Given the description of an element on the screen output the (x, y) to click on. 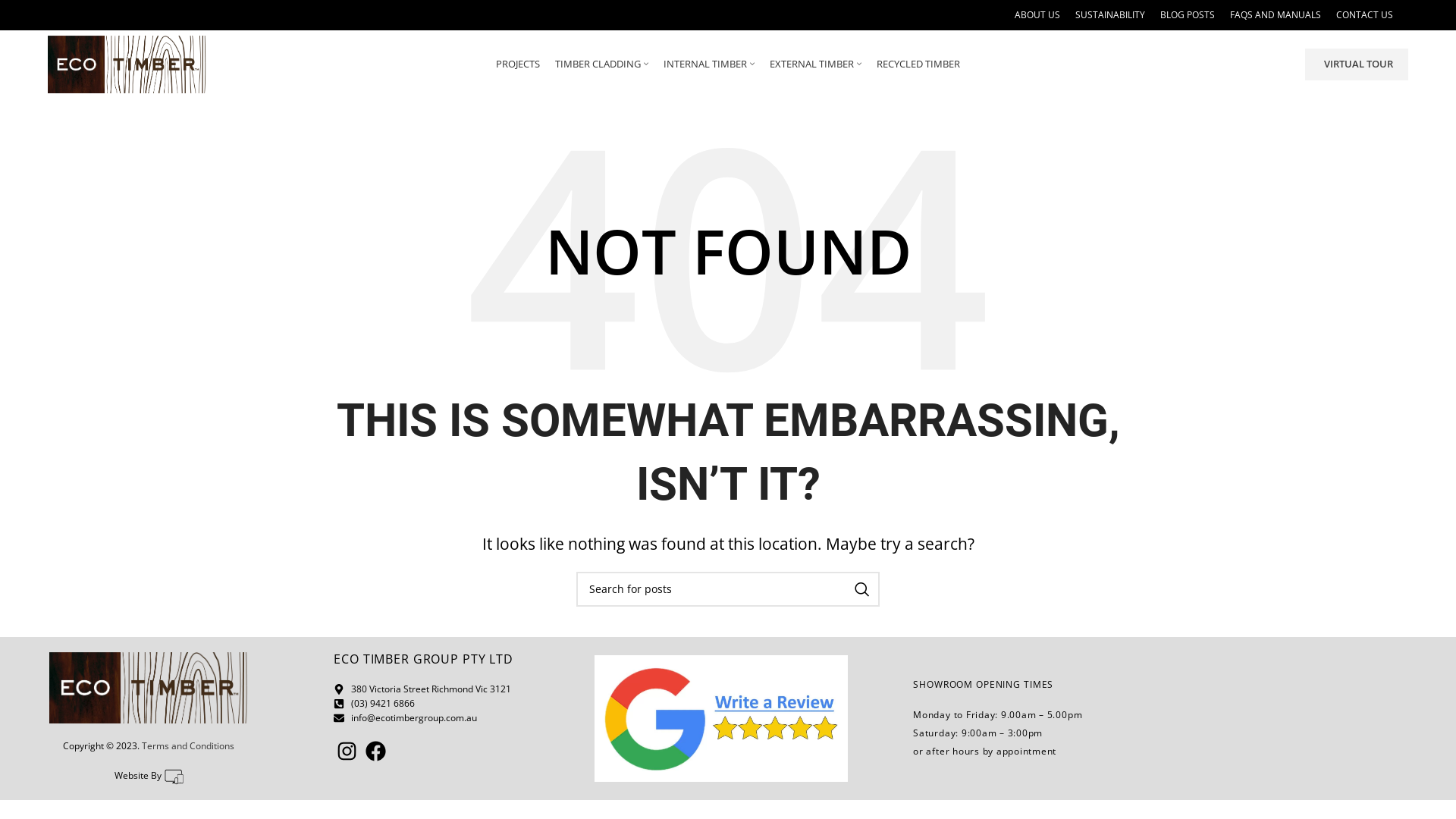
ABOUT US Element type: text (1037, 15)
PROJECTS Element type: text (517, 64)
VIRTUAL TOUR Element type: text (1356, 64)
EXTERNAL TIMBER Element type: text (815, 64)
BLOG POSTS Element type: text (1187, 15)
CONTACT US Element type: text (1364, 15)
TIMBER CLADDING Element type: text (601, 64)
FAQS AND MANUALS Element type: text (1275, 15)
SEARCH Element type: text (861, 588)
info@ecotimbergroup.com.au Element type: text (452, 717)
Terms and Conditions Element type: text (187, 745)
Search for posts Element type: hover (727, 588)
SUSTAINABILITY Element type: text (1110, 15)
INTERNAL TIMBER Element type: text (708, 64)
RECYCLED TIMBER Element type: text (918, 64)
(03) 9421 6866 Element type: text (452, 703)
